Given the description of an element on the screen output the (x, y) to click on. 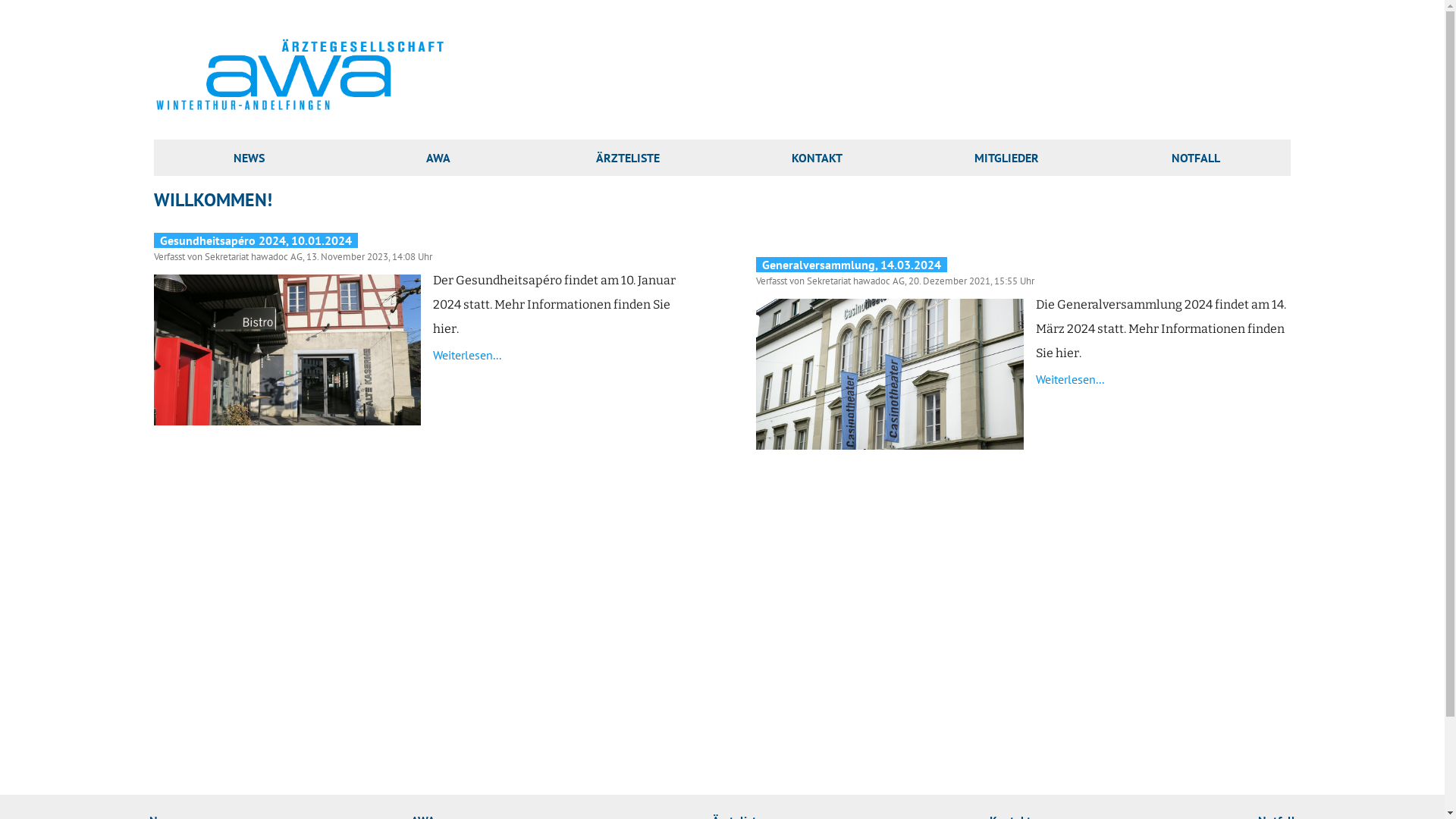
KONTAKT Element type: text (816, 157)
NEWS Element type: text (248, 157)
Weiterlesen... Element type: text (467, 354)
Weiterlesen... Element type: text (1069, 378)
MITGLIEDER Element type: text (1006, 157)
AWA Element type: text (438, 157)
NOTFALL Element type: text (1195, 157)
